Given the description of an element on the screen output the (x, y) to click on. 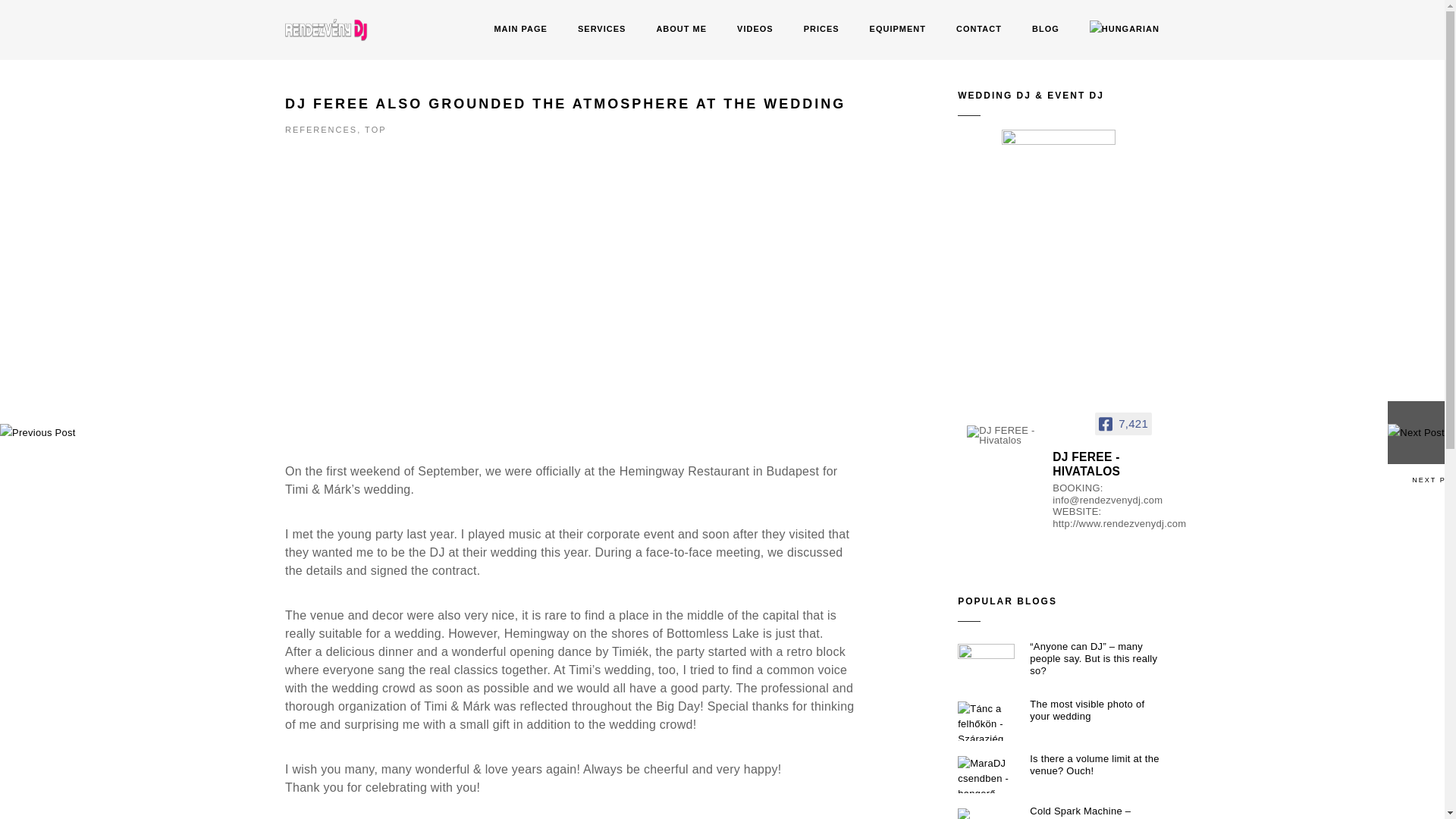
VIDEOS (754, 29)
EQUIPMENT (897, 29)
CONTACT (978, 29)
PRICES (821, 29)
MAIN PAGE (520, 29)
TOP (375, 129)
DJ FEREE - Hivatalos (1003, 435)
REFERENCES (320, 129)
BLOG (1045, 29)
SERVICES (602, 29)
